Given the description of an element on the screen output the (x, y) to click on. 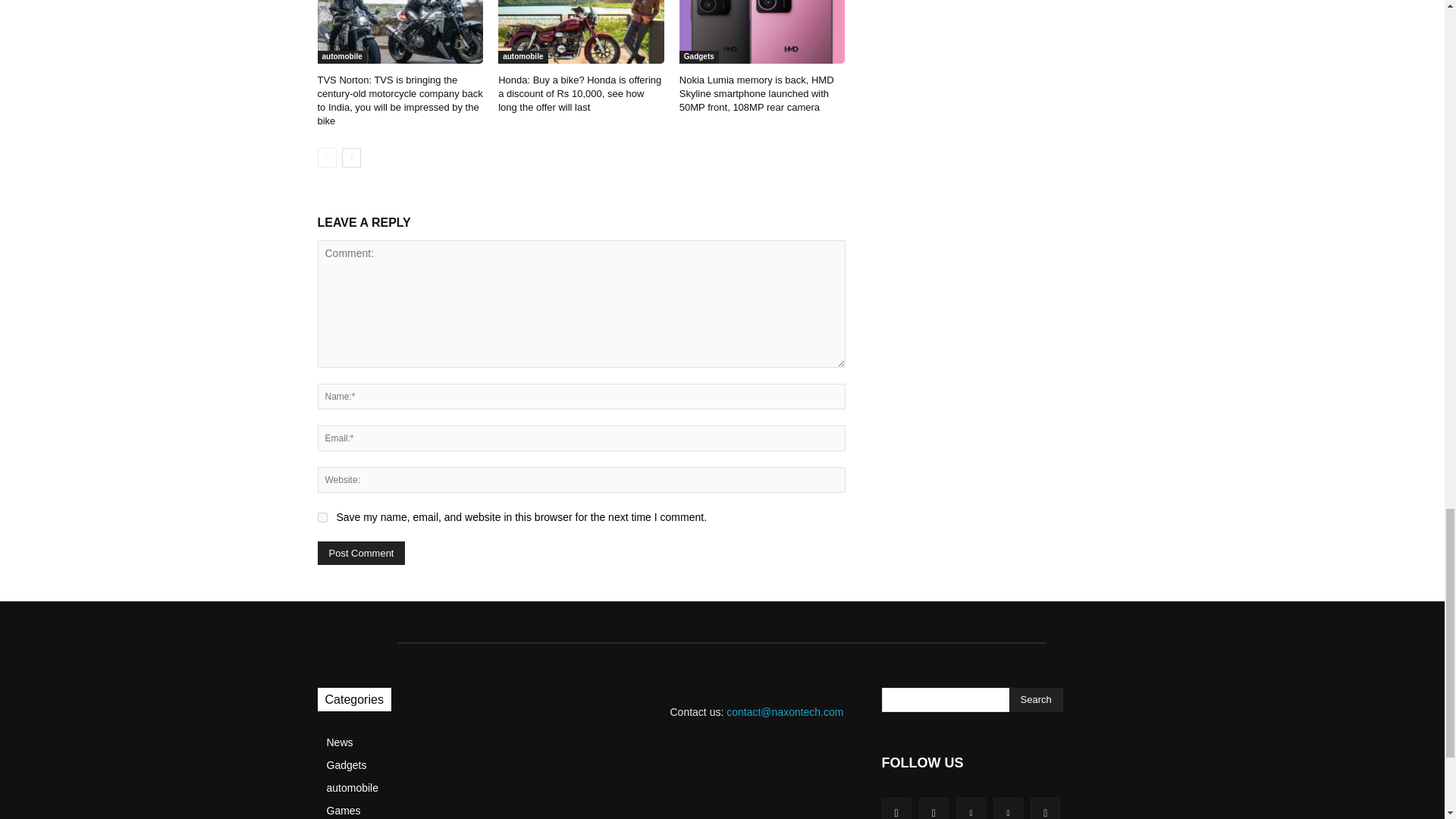
yes (321, 517)
Post Comment (360, 553)
